Given the description of an element on the screen output the (x, y) to click on. 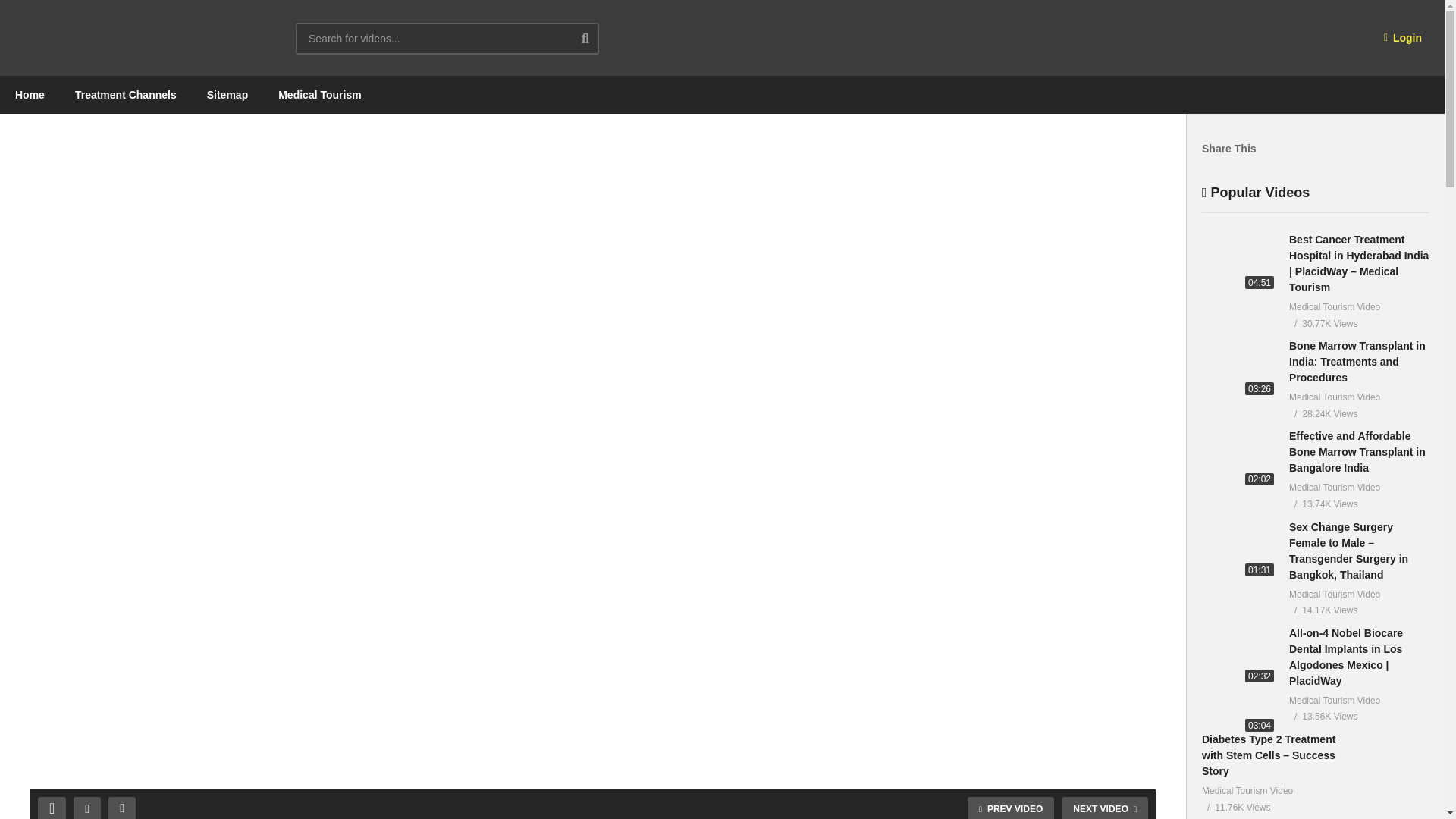
Home (29, 94)
Sitemap (227, 94)
Medical Tourism (319, 94)
Medical Tourism Video (136, 37)
 Login (1402, 38)
NEXT VIDEO (1104, 807)
PREV VIDEO (1011, 807)
SEARCH (596, 37)
Treatment Channels (125, 94)
SEARCH (596, 37)
